Given the description of an element on the screen output the (x, y) to click on. 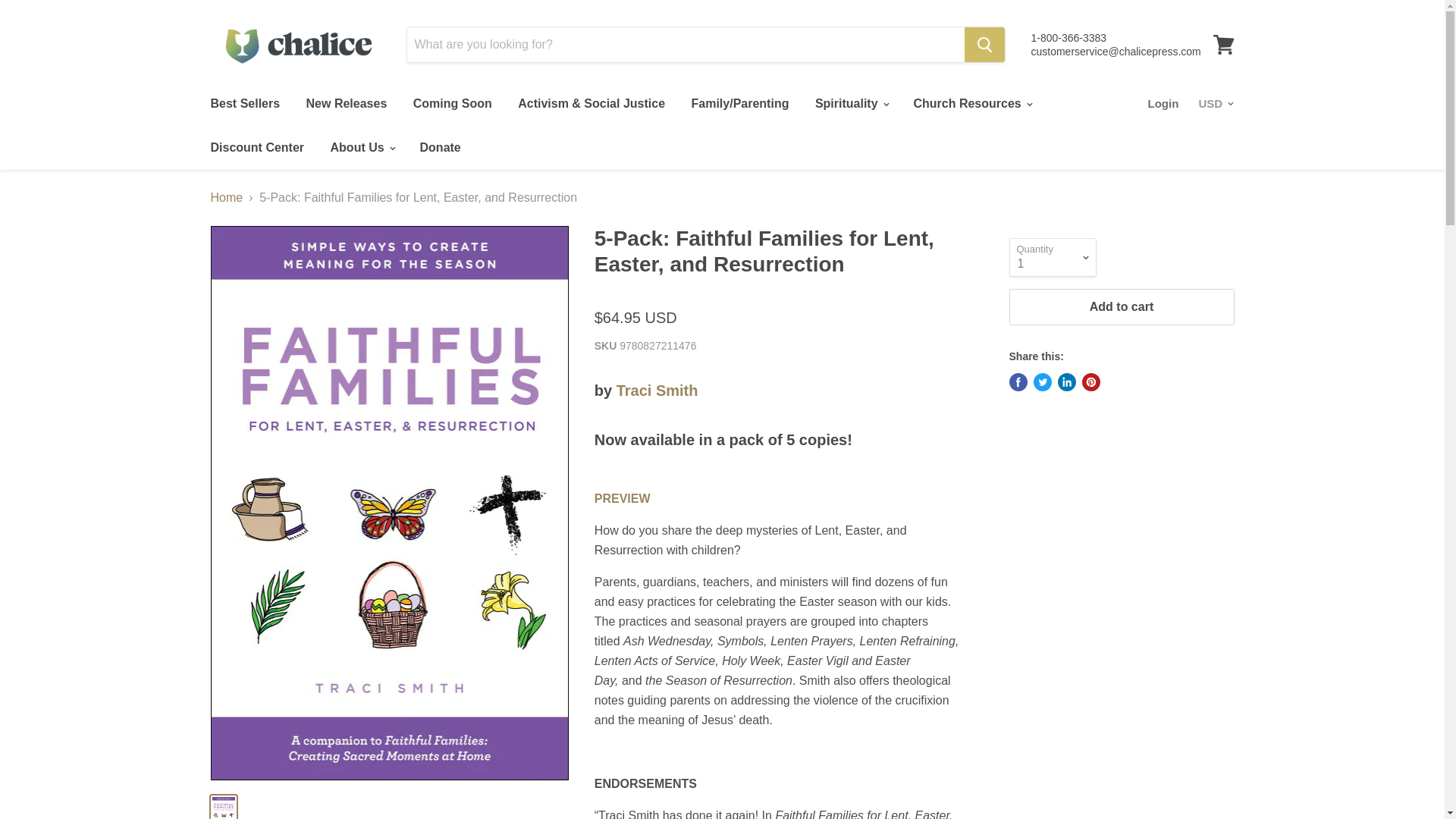
Coming Soon (452, 103)
New Releases (346, 103)
Spirituality (850, 103)
Church Resources (971, 103)
View cart (1223, 44)
Best Sellers (244, 103)
